Given the description of an element on the screen output the (x, y) to click on. 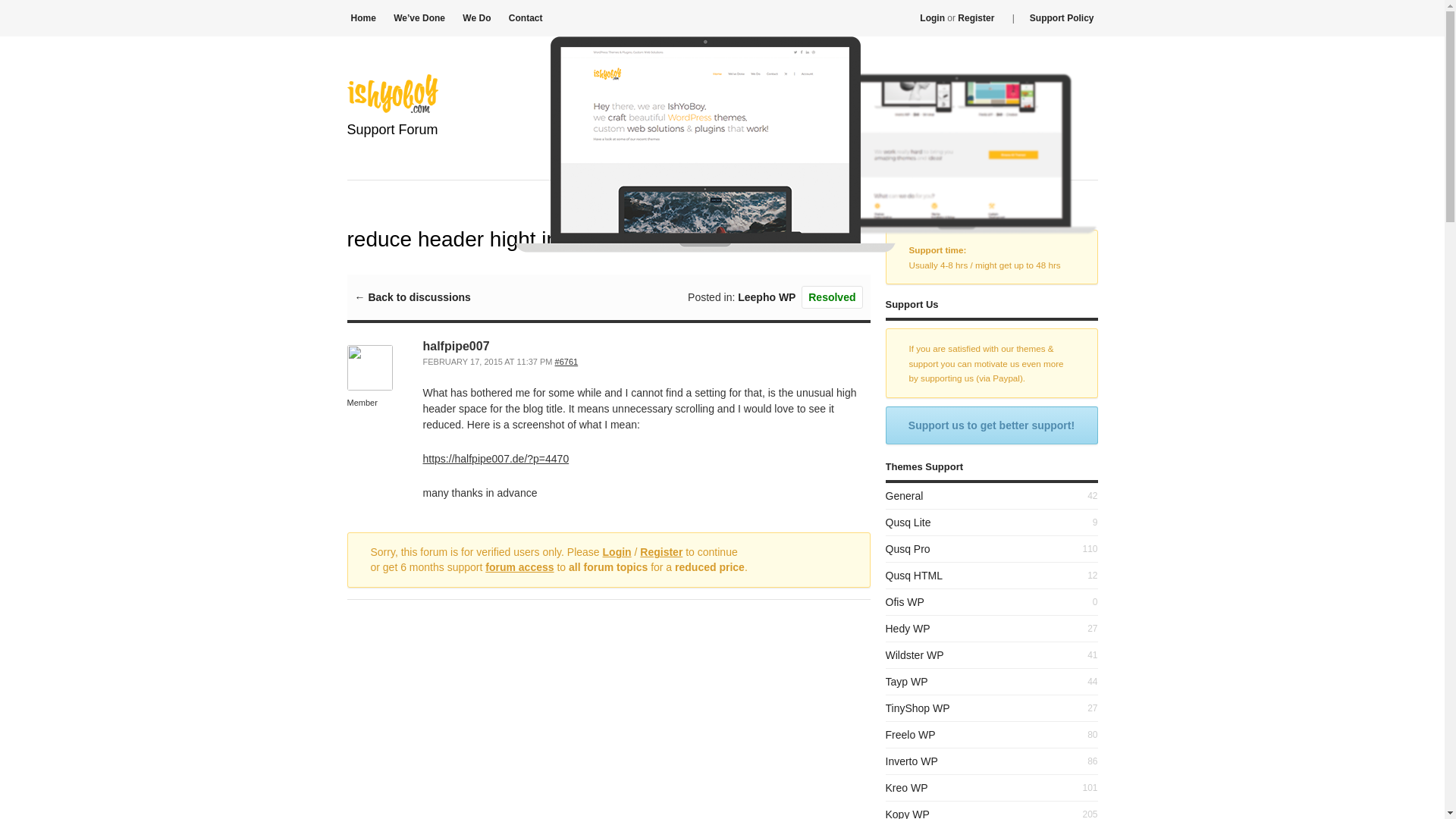
Qusq Pro (907, 548)
Kopy WP (907, 813)
Support us to get better support! (991, 425)
Hedy WP (907, 628)
General (904, 495)
Qusq Lite (908, 522)
Tayp WP (906, 681)
Freelo WP (910, 734)
Wildster WP (914, 654)
Qusq HTML (913, 575)
Home (362, 18)
Qusq Pro (907, 548)
Login (616, 551)
Login (932, 18)
Support us to get better support! (991, 425)
